Given the description of an element on the screen output the (x, y) to click on. 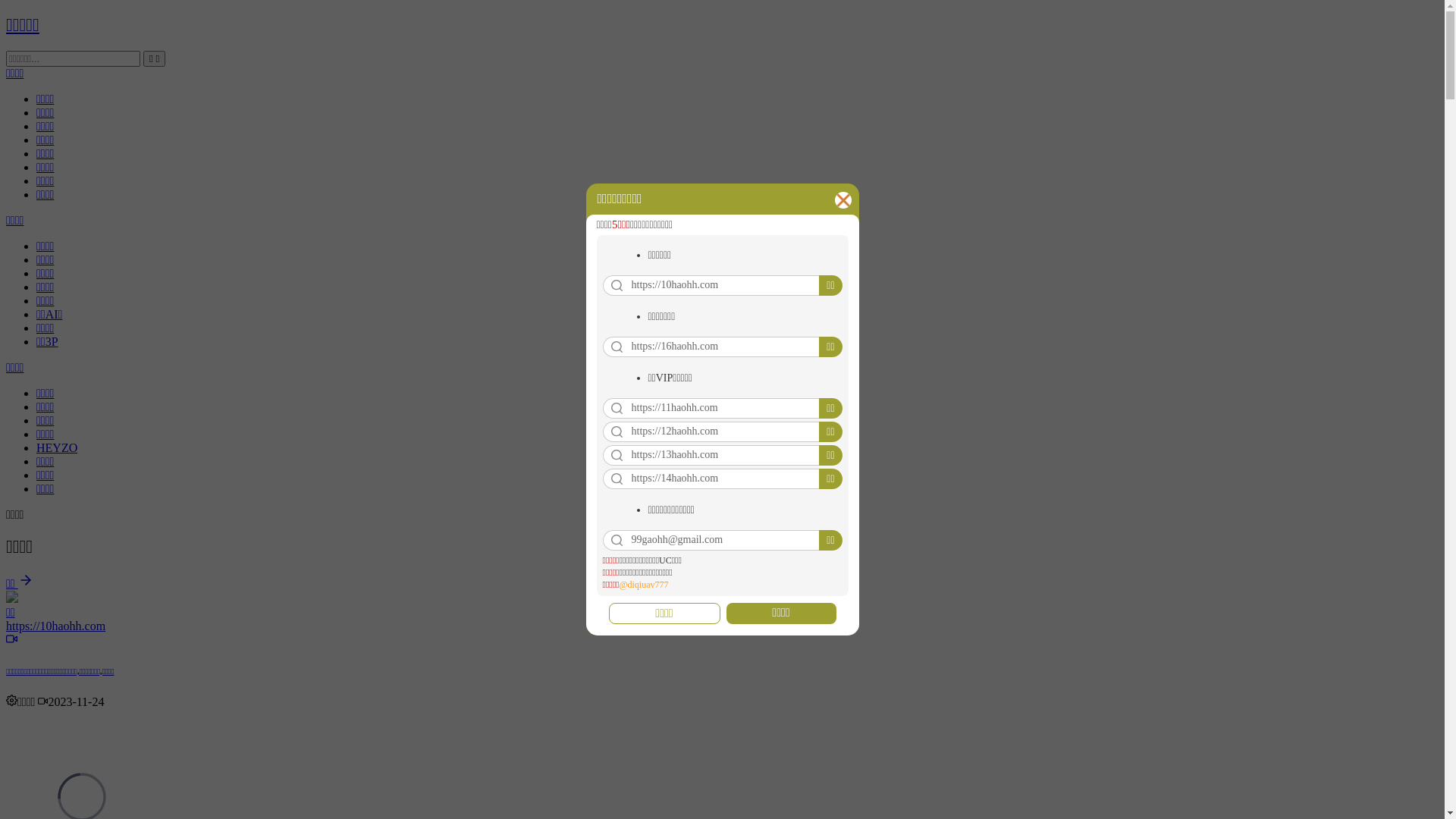
@diqiuav777 Element type: text (643, 584)
HEYZO Element type: text (56, 447)
